Given the description of an element on the screen output the (x, y) to click on. 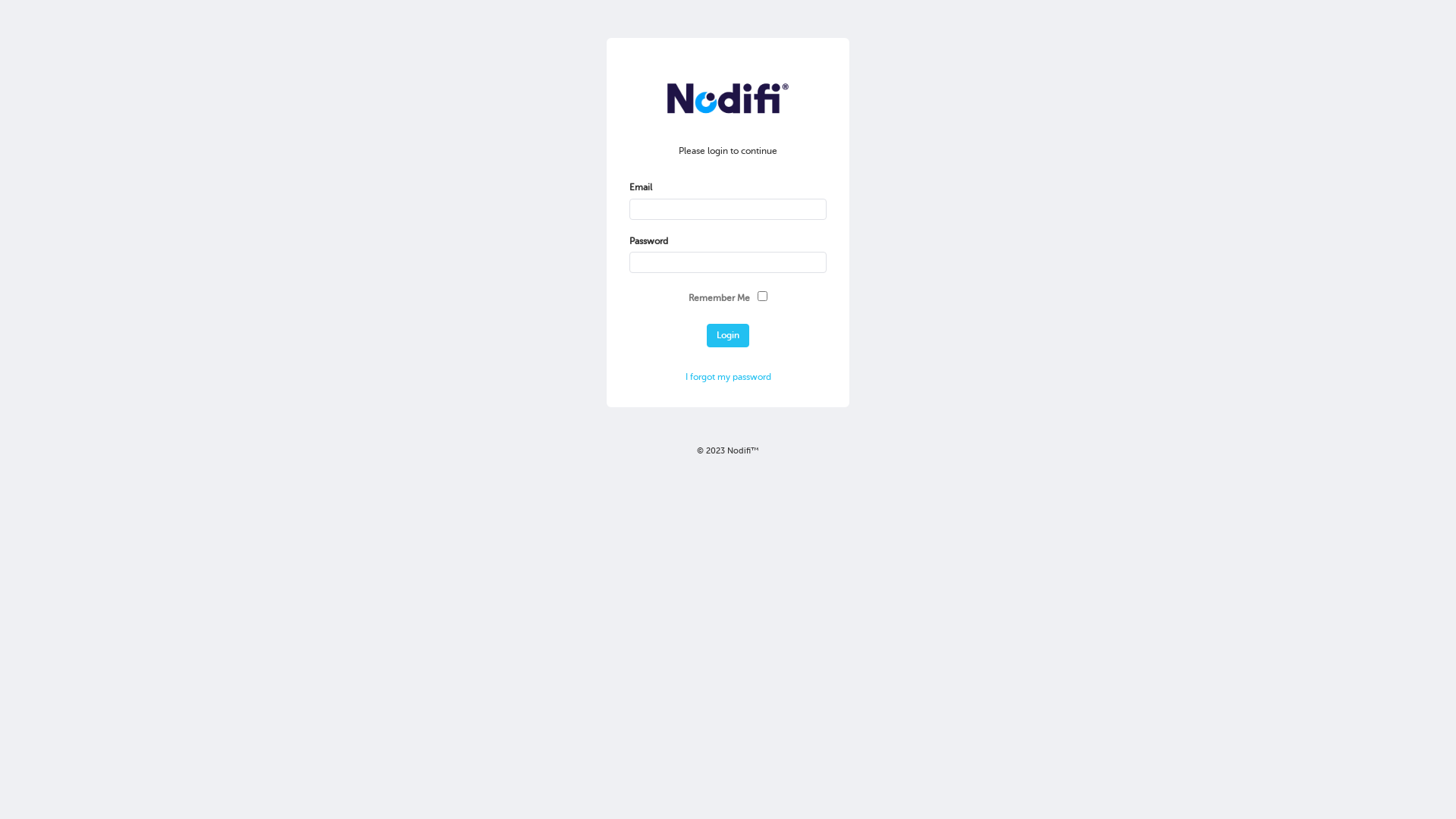
Login Element type: text (727, 335)
I forgot my password Element type: text (728, 376)
